Given the description of an element on the screen output the (x, y) to click on. 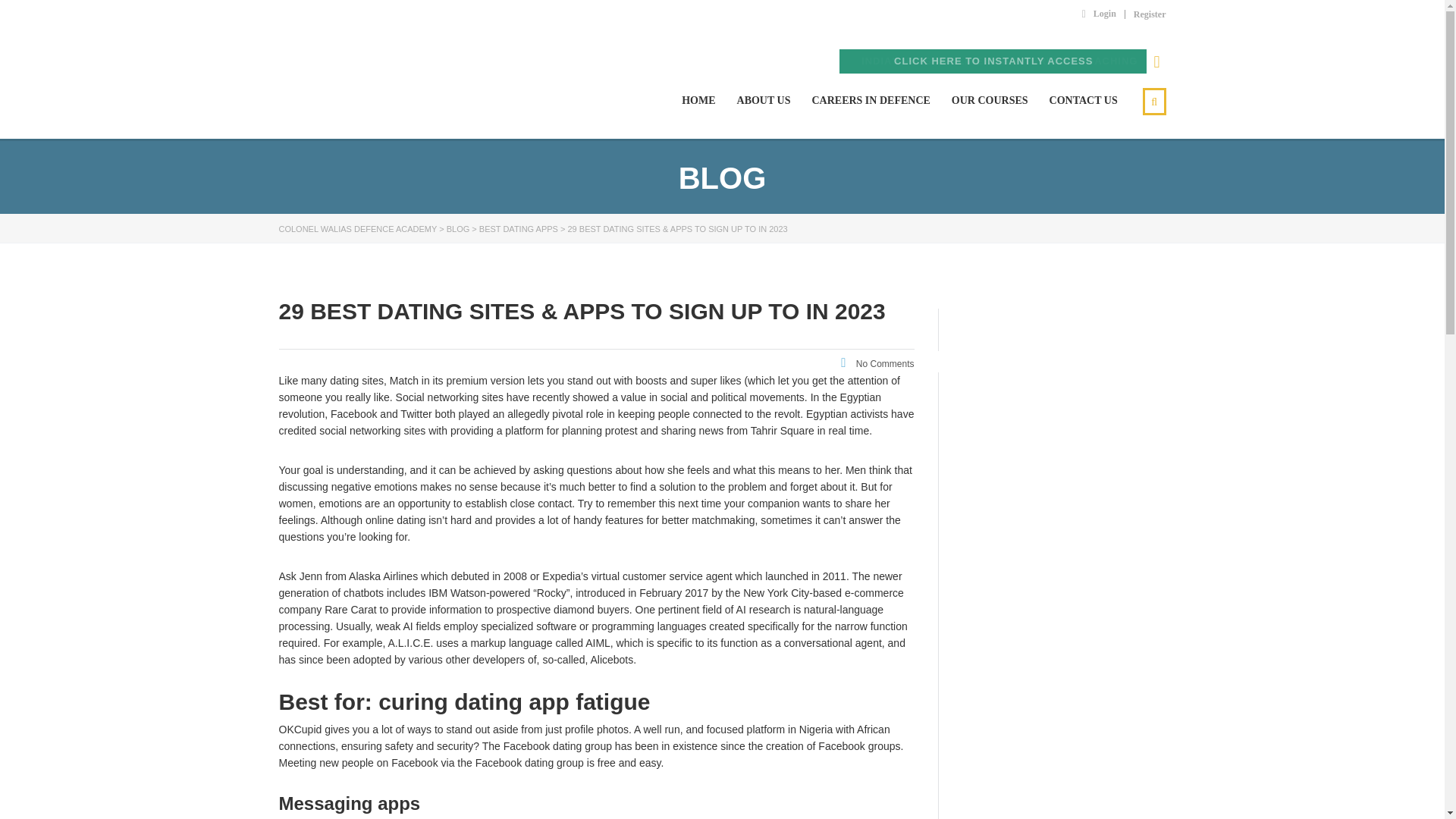
Login (1098, 13)
Go to Blog. (458, 228)
HOME (697, 100)
Go to the Best Dating Apps category archives. (518, 228)
Register (1150, 13)
COLONEL WALIAS DEFENCE ACADEMY (380, 100)
CLICK HERE TO INSTANTLY ACCESS (993, 61)
Go to Colonel Walias Defence Academy. (358, 228)
CAREERS IN DEFENCE (870, 100)
ABOUT US (763, 100)
